Given the description of an element on the screen output the (x, y) to click on. 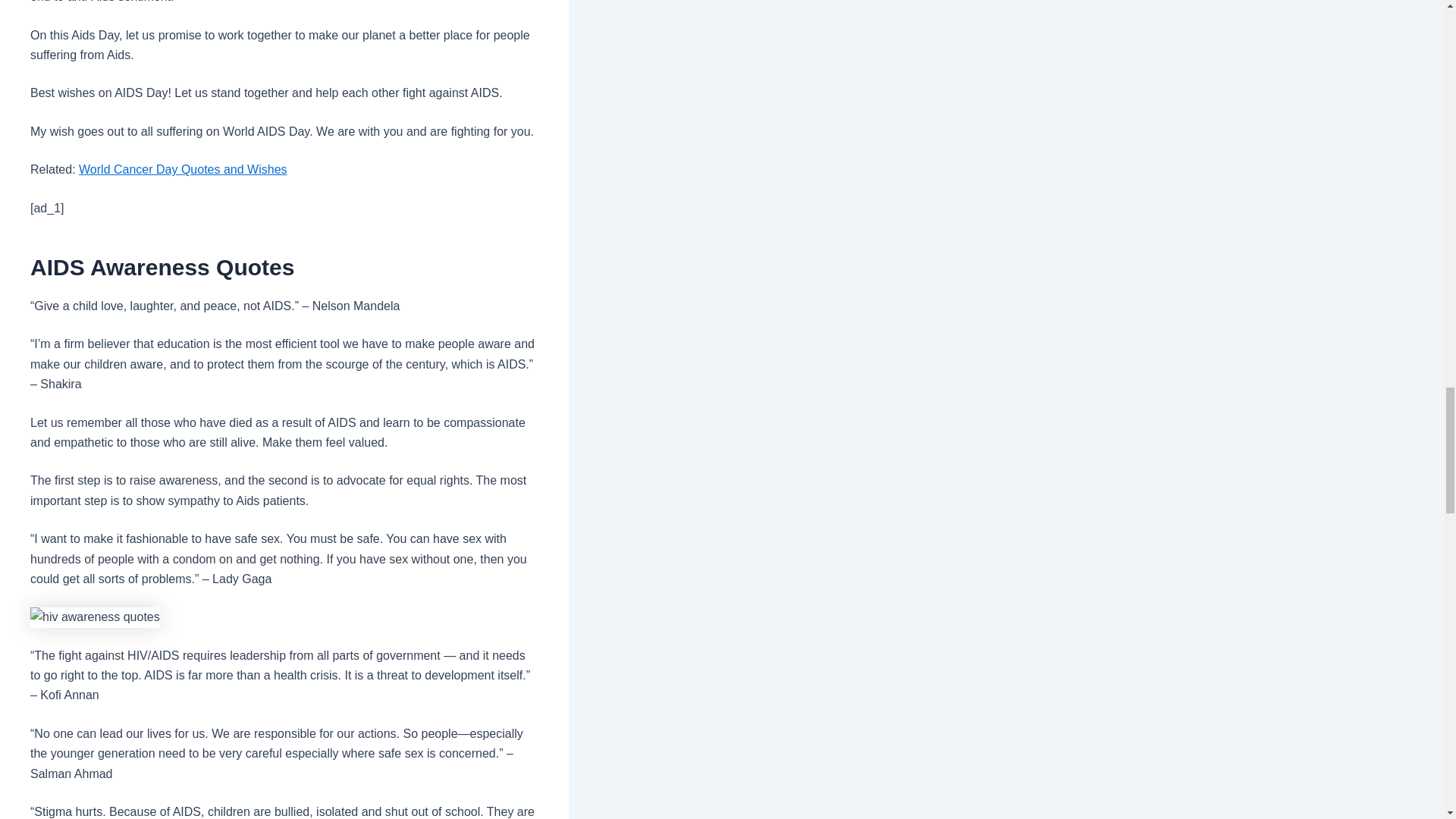
World Cancer Day Quotes and Wishes (182, 169)
